Given the description of an element on the screen output the (x, y) to click on. 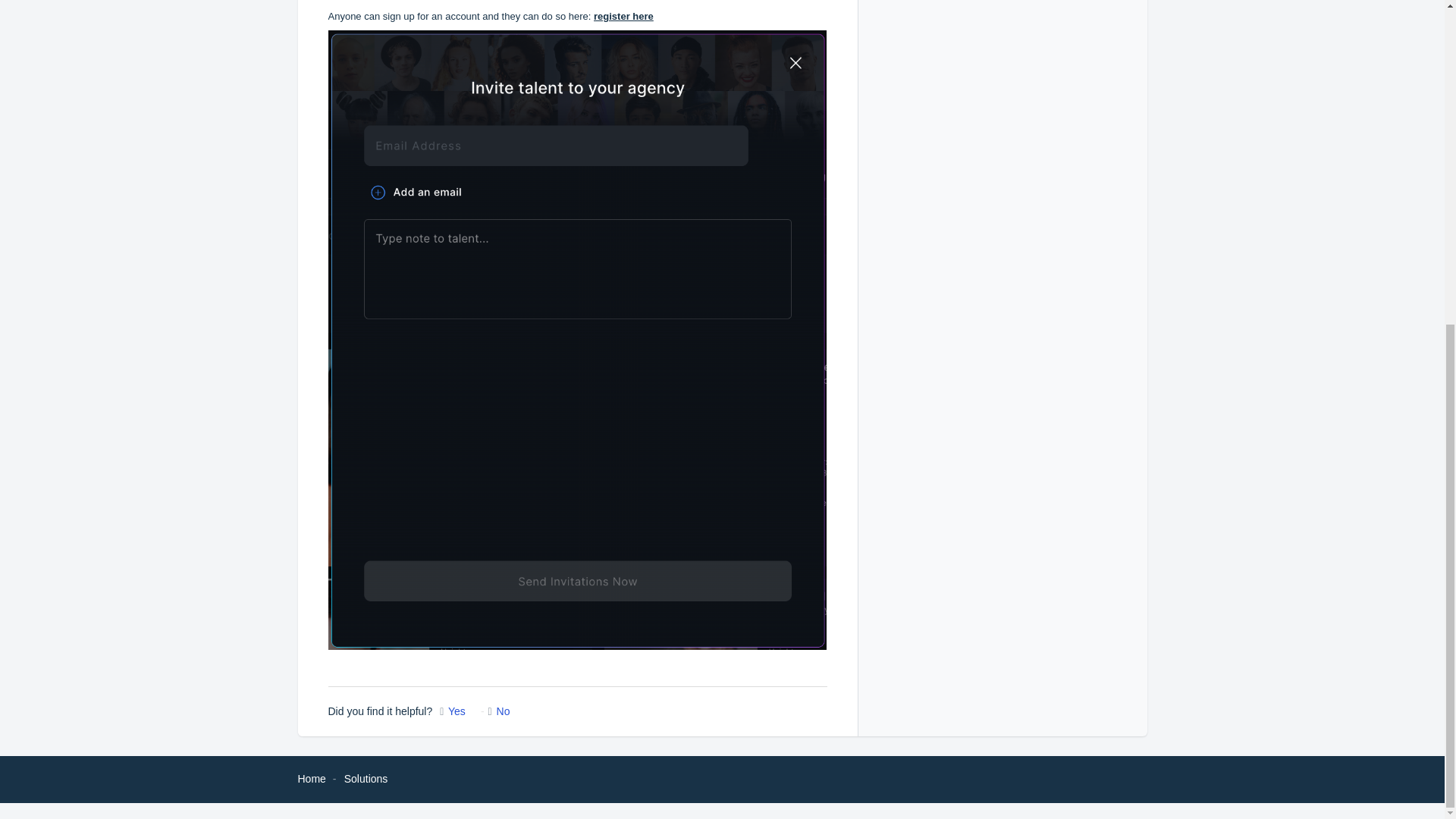
Home (310, 778)
Solutions (365, 778)
register here (623, 16)
